Given the description of an element on the screen output the (x, y) to click on. 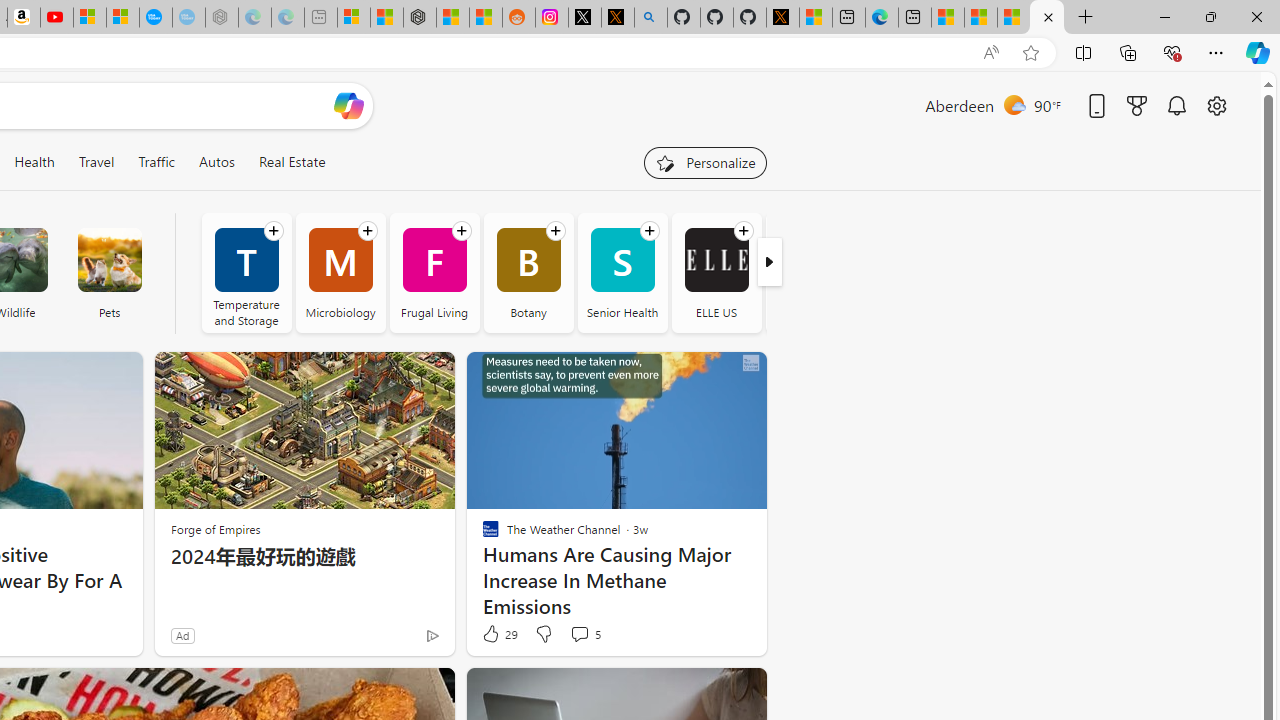
Ad Choice (432, 634)
github - Search (650, 17)
Temperature and Storage (245, 272)
Follow channel (743, 231)
Microbiology (340, 272)
Forge of Empires (215, 529)
Traffic (156, 161)
